Given the description of an element on the screen output the (x, y) to click on. 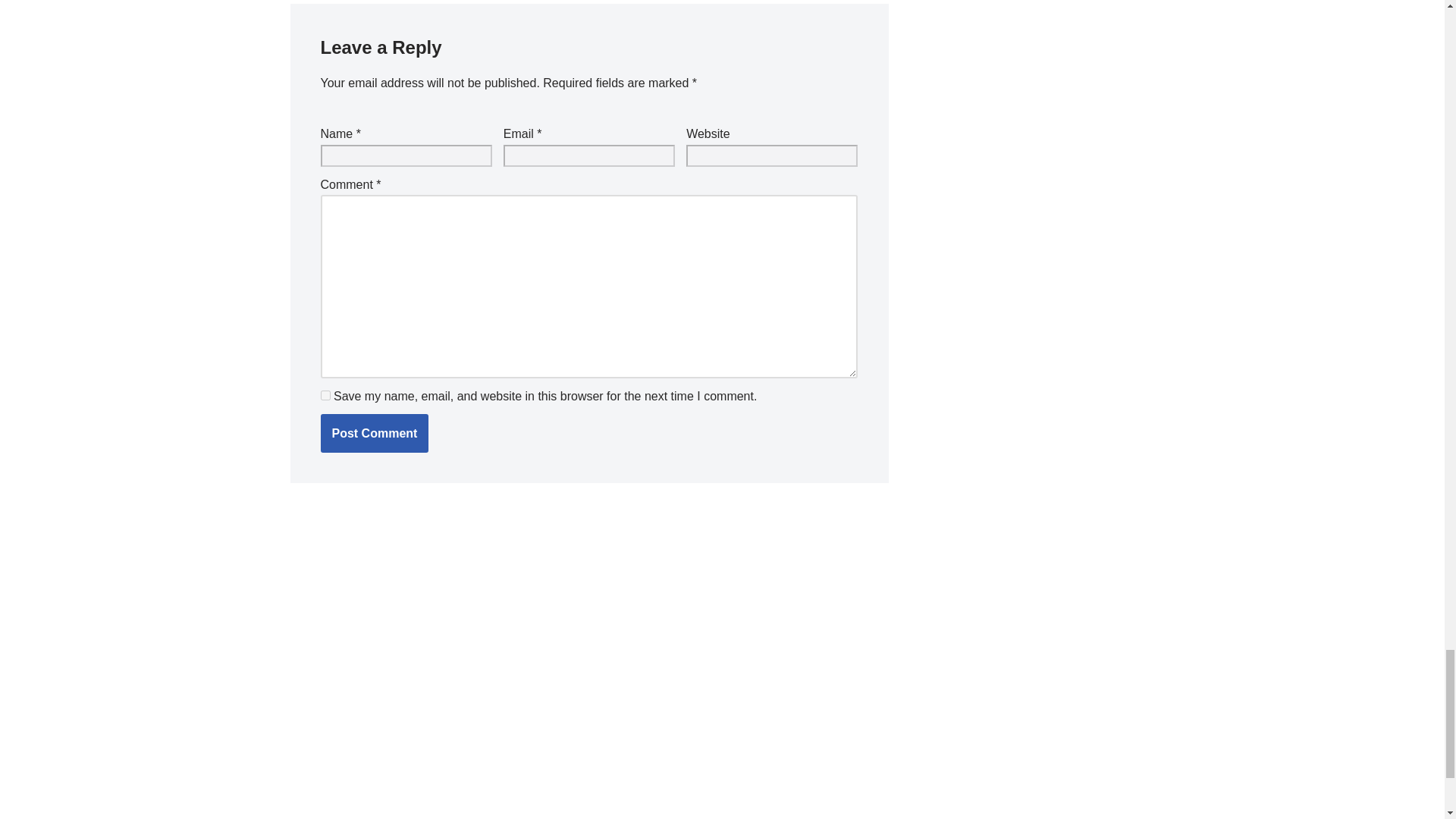
Post Comment (374, 433)
yes (325, 395)
